Given the description of an element on the screen output the (x, y) to click on. 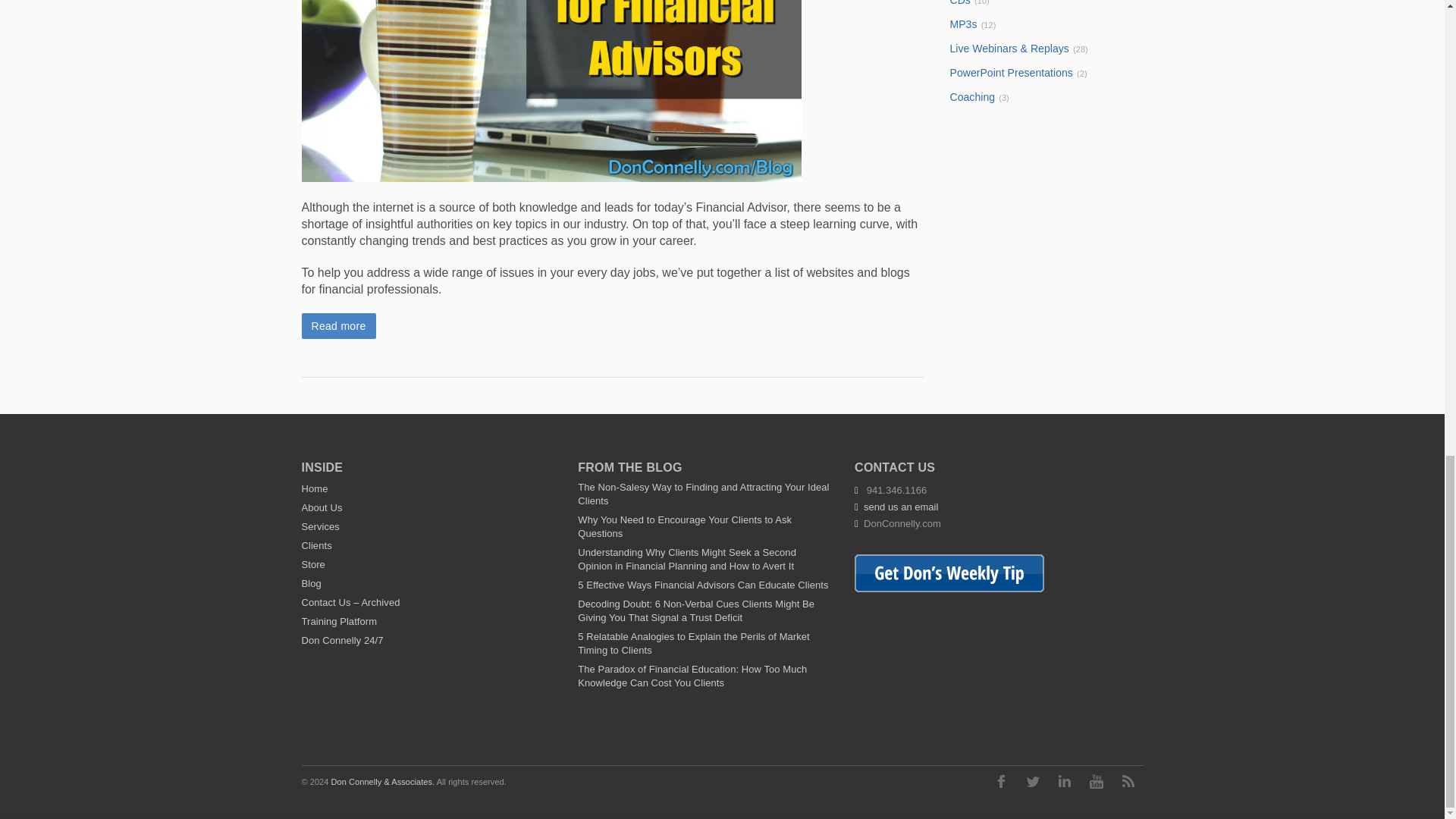
Coaching (972, 96)
PowerPoint Presentations (1011, 72)
CDs (960, 2)
Blog (311, 583)
Services (320, 526)
Read more (338, 325)
Home (315, 488)
Training Platform (339, 621)
Clients (316, 545)
About Us (321, 507)
Store (312, 564)
MP3s (963, 24)
